Given the description of an element on the screen output the (x, y) to click on. 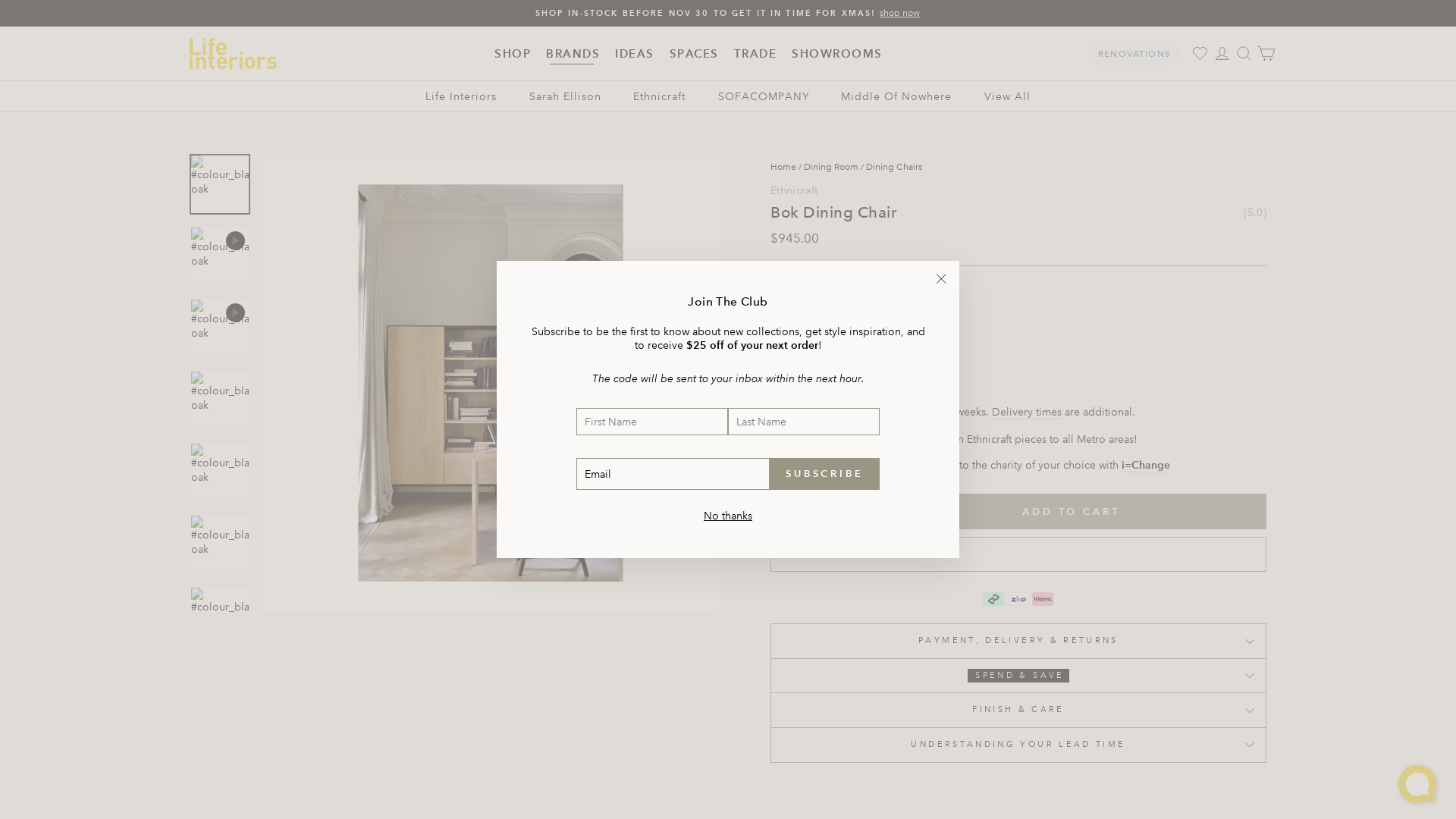
BRANDS Element type: text (572, 53)
No thanks Element type: text (727, 515)
ADD TO CART Element type: text (1070, 511)
Ethnicraft Element type: text (659, 96)
SPACES Element type: text (694, 53)
icon-X
"Close (esc)" Element type: text (940, 278)
Dining Chairs Element type: text (894, 166)
FINISH & CARE Element type: text (1018, 710)
Ethnicraft Element type: text (794, 190)
TRADE Element type: text (755, 53)
Bok Dining Chair Element type: text (936, 178)
SUBSCRIBE Element type: text (824, 473)
SHOWROOMS Element type: text (837, 53)
RENOVATIONS Element type: text (1133, 53)
PAYMENT, DELIVERY & RETURNS Element type: text (1018, 640)
Sarah Ellison Element type: text (565, 96)
UNDERSTANDING YOUR LEAD TIME Element type: text (1018, 745)
i=Change Element type: text (1145, 465)
IDEAS Element type: text (634, 53)
Dining Room Element type: text (830, 166)
ACCOUNT
LOG IN Element type: text (1221, 52)
SOFACOMPANY Element type: text (763, 96)
View All Element type: text (1007, 96)
Delivery times Element type: text (1026, 411)
Home Element type: text (783, 166)
+ Element type: text (855, 511)
SHOP Element type: text (512, 53)
ICON-SEARCH
SEARCH Element type: text (1243, 52)
Middle Of Nowhere Element type: text (895, 96)
Life Interiors Element type: text (460, 96)
CART Element type: text (1265, 52)
SPEND & SAVE Element type: text (1018, 675)
